Given the description of an element on the screen output the (x, y) to click on. 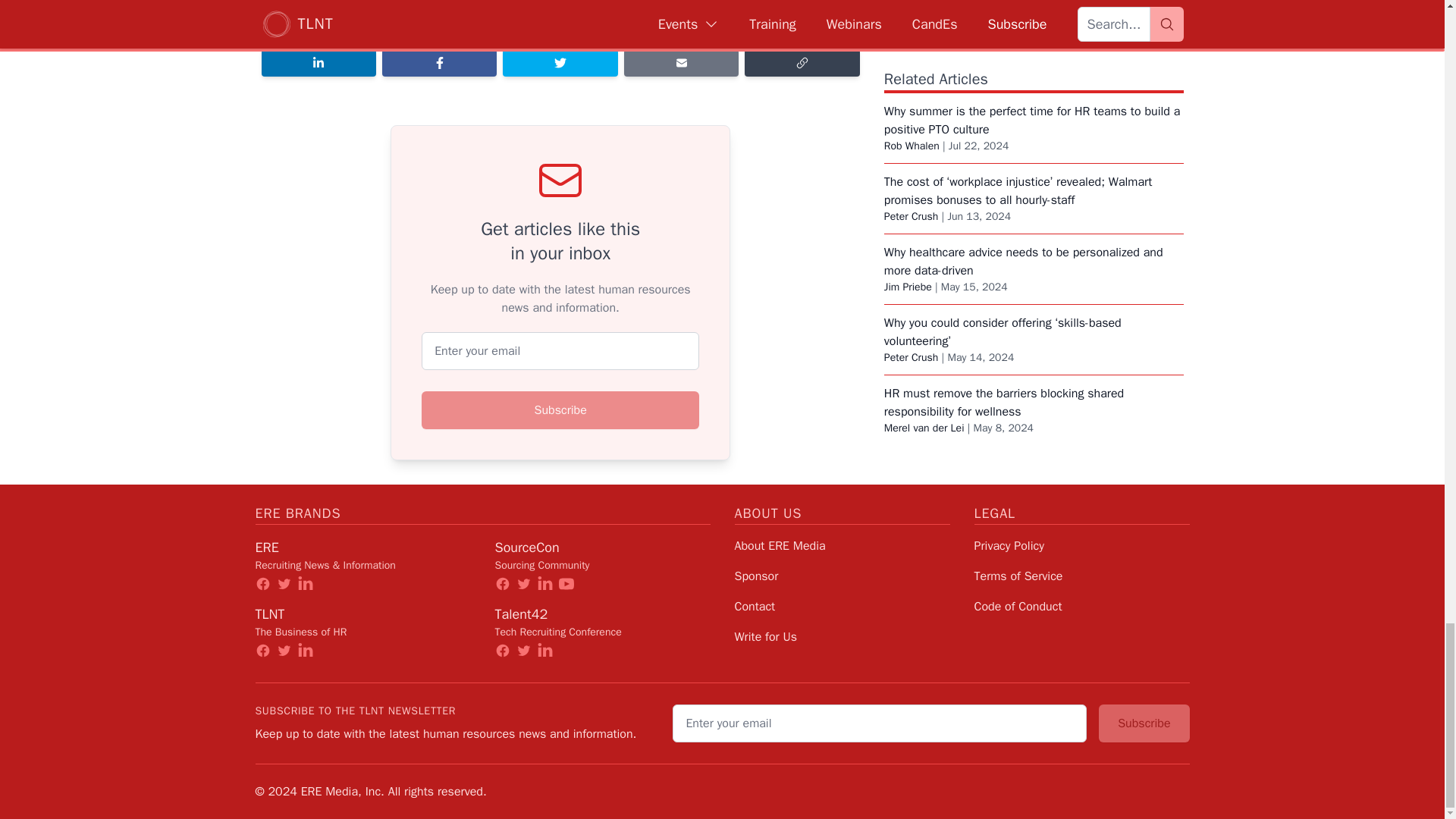
Editor's Pick (516, 24)
Subscribe (560, 410)
